Given the description of an element on the screen output the (x, y) to click on. 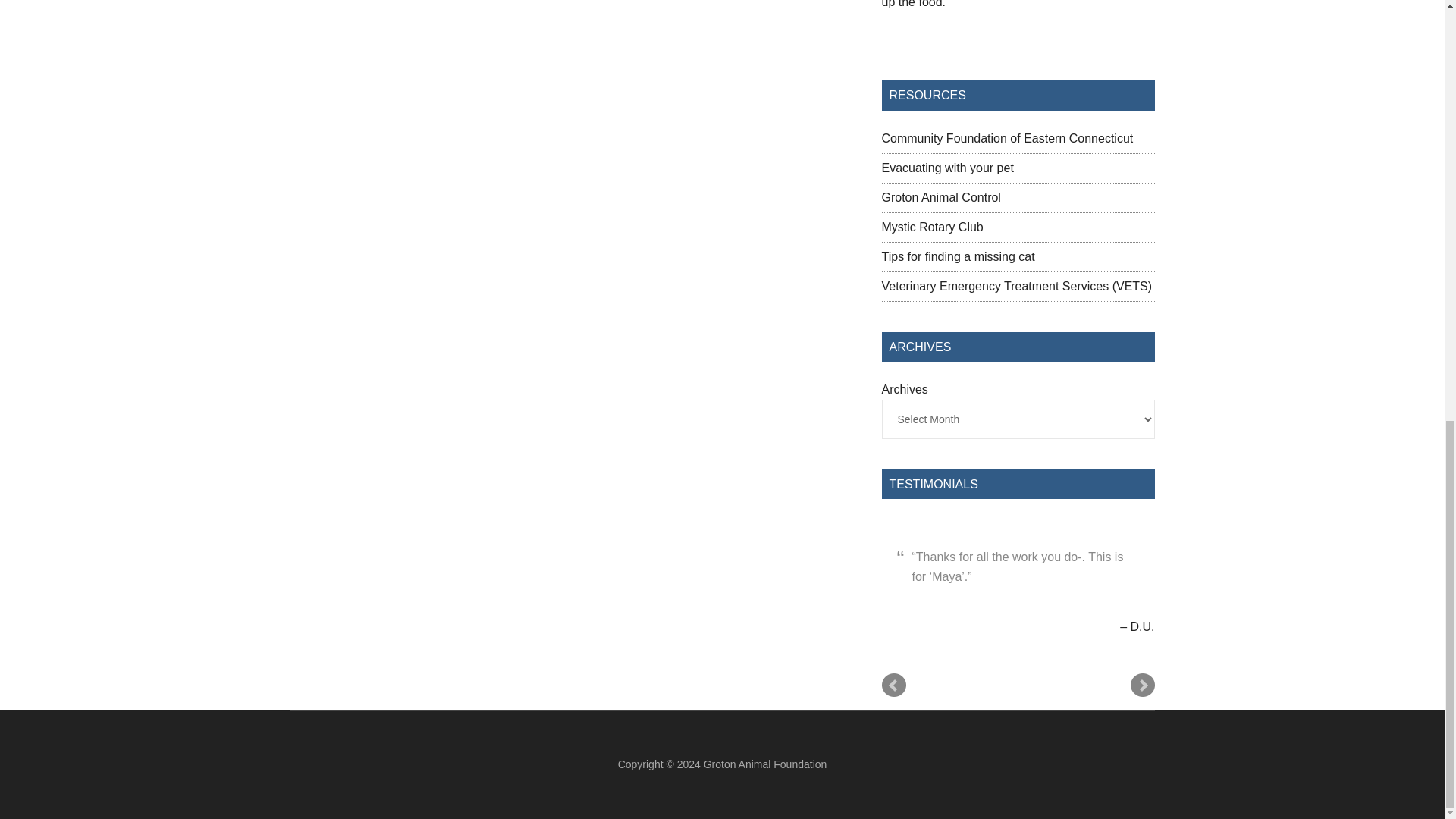
Mystic Rotary Club (931, 226)
Next (1141, 685)
Tips for finding a missing cat (956, 256)
Psychology and the Missing Cat (956, 256)
Community Foundation of Eastern Connecticut (1006, 137)
Groton Animal Control (940, 196)
A checklist for evacuating your home with your pets (946, 167)
Prev (892, 685)
Evacuating with your pet (946, 167)
